Given the description of an element on the screen output the (x, y) to click on. 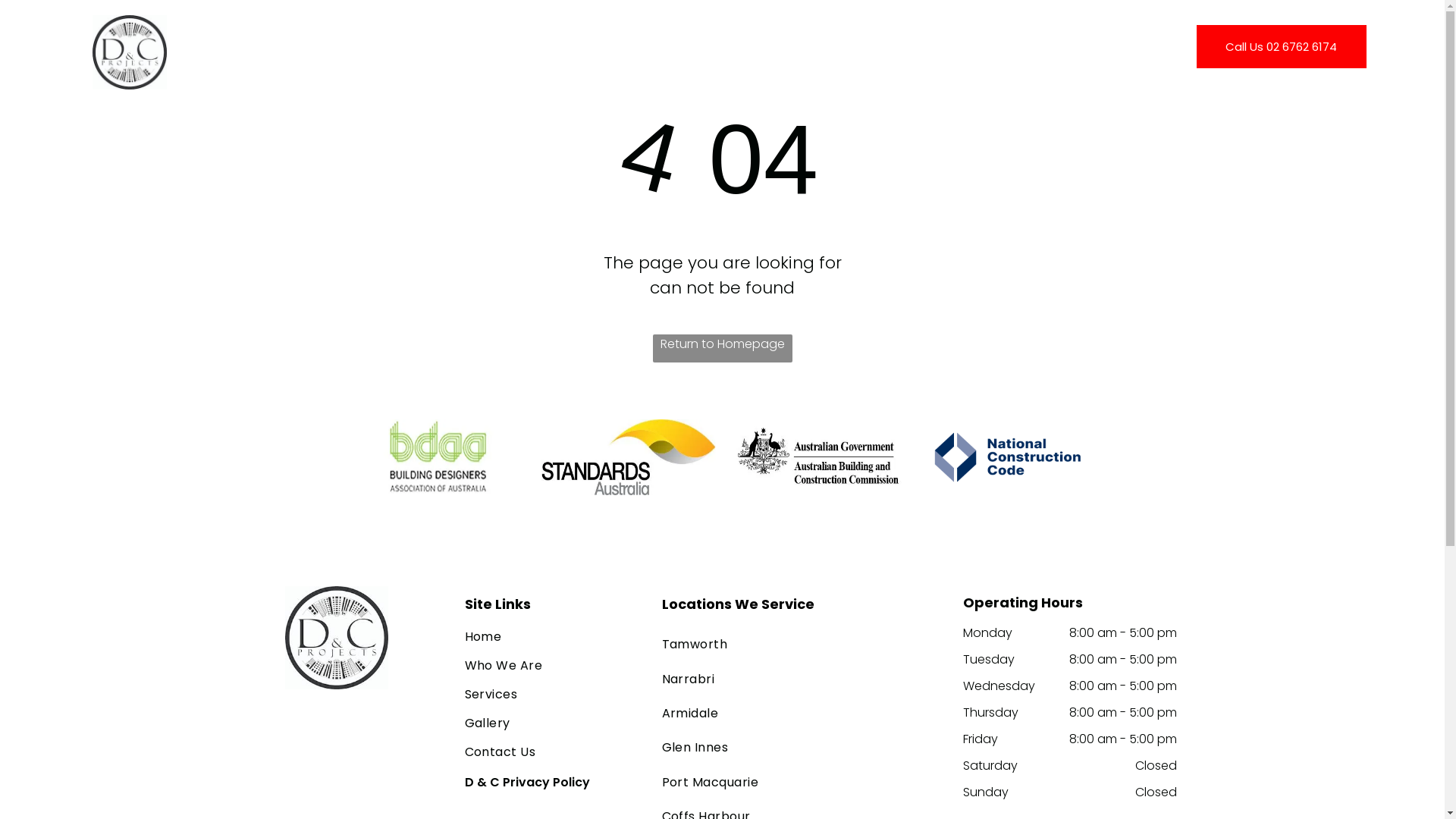
Armidale Element type: text (801, 713)
https://bdaa.com.au/ Element type: text (438, 457)
Services Element type: text (605, 51)
Return to Homepage Element type: text (721, 348)
Glen Innes Element type: text (801, 747)
Contact Us Element type: text (924, 51)
Contact Us Element type: text (551, 752)
Narrabri Element type: text (801, 678)
Services Element type: text (551, 694)
https://www.standards.org.au/ Element type: text (628, 457)
Tamworth Element type: text (801, 644)
Who We Are Element type: text (519, 51)
Gallery Element type: text (551, 723)
Who We Are Element type: text (551, 666)
Call Us 02 6762 6174 Element type: text (1281, 46)
Locations We Service Element type: text (795, 51)
Gallery Element type: text (677, 51)
D & C Privacy Policy Element type: text (526, 781)
Home Element type: text (551, 637)
Locations We Service Element type: text (737, 603)
Port Macquarie Element type: text (801, 781)
https://www.abcc.gov.au/building-code Element type: text (818, 457)
